Given the description of an element on the screen output the (x, y) to click on. 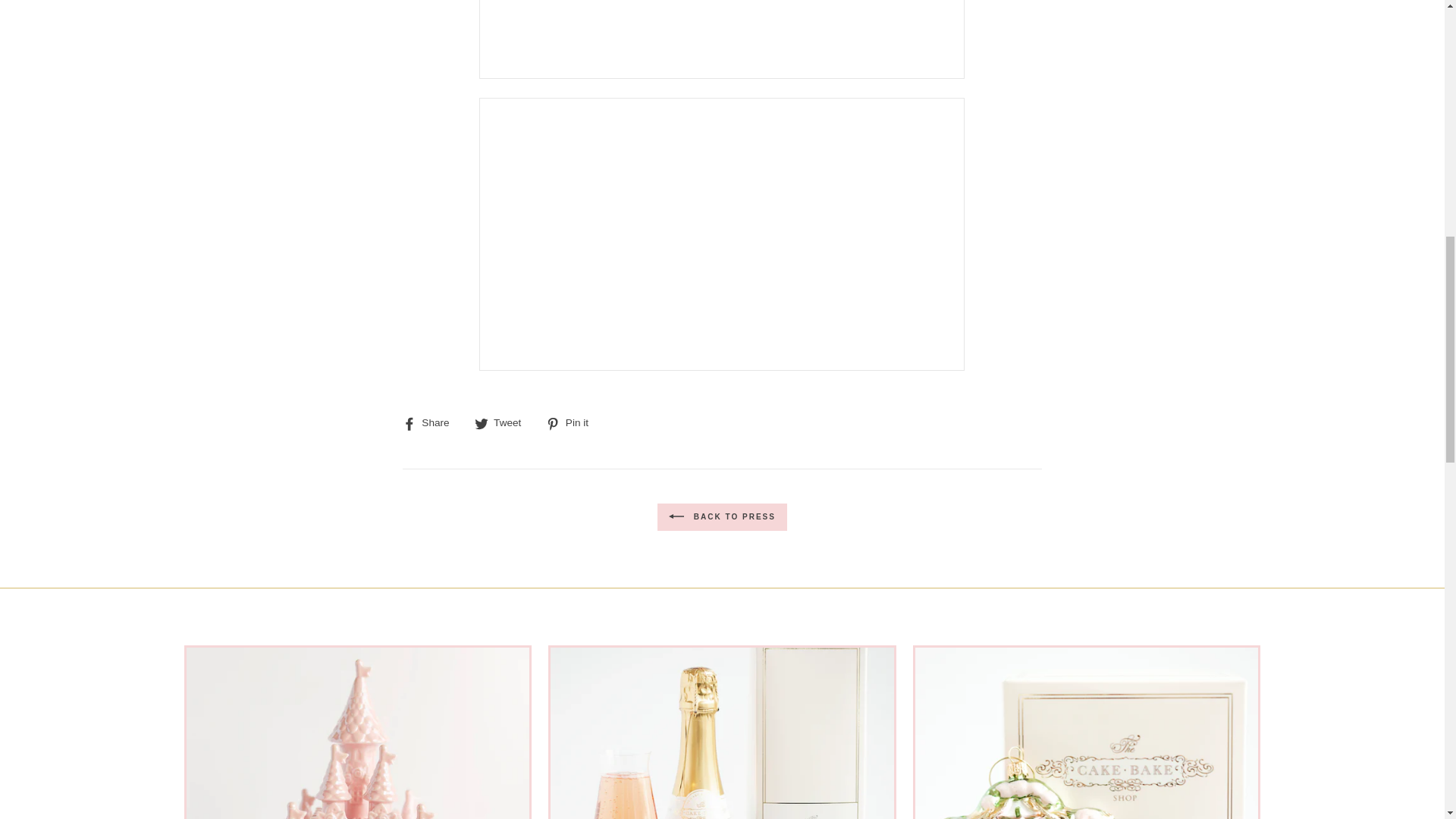
Share on Facebook (432, 423)
Tweet on Twitter (503, 423)
Pin on Pinterest (572, 423)
